Given the description of an element on the screen output the (x, y) to click on. 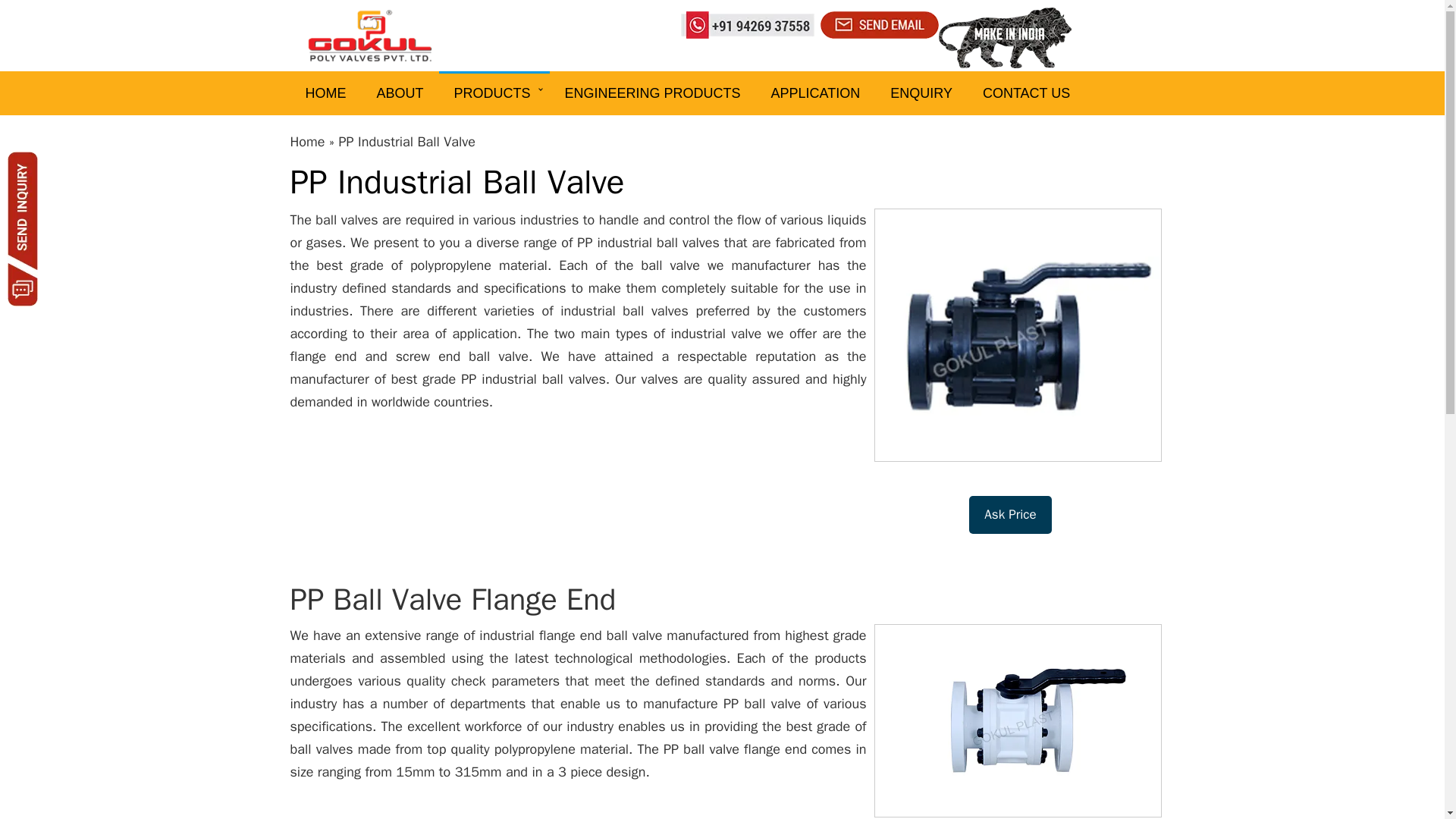
ENQUIRY (921, 93)
HOME (325, 93)
CONTACT US (1026, 93)
Home (306, 141)
PP industrial ball valves. (537, 379)
ENGINEERING PRODUCTS (652, 93)
ball valve manufactured (678, 635)
ABOUT (399, 93)
APPLICATION (815, 93)
Ask Price (1010, 514)
PP ball valve (759, 703)
PRODUCTS (494, 93)
